Given the description of an element on the screen output the (x, y) to click on. 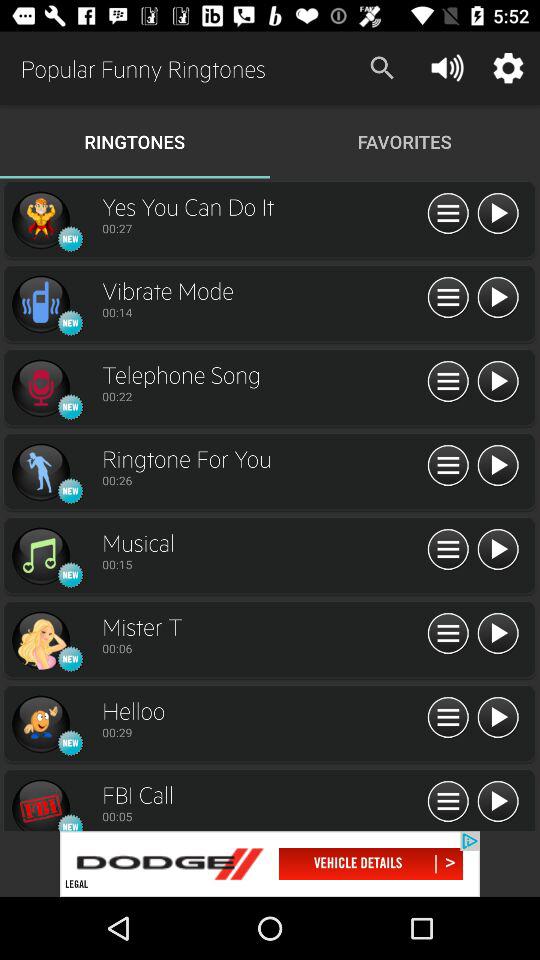
play the vibrate mode ringtone (497, 297)
